Given the description of an element on the screen output the (x, y) to click on. 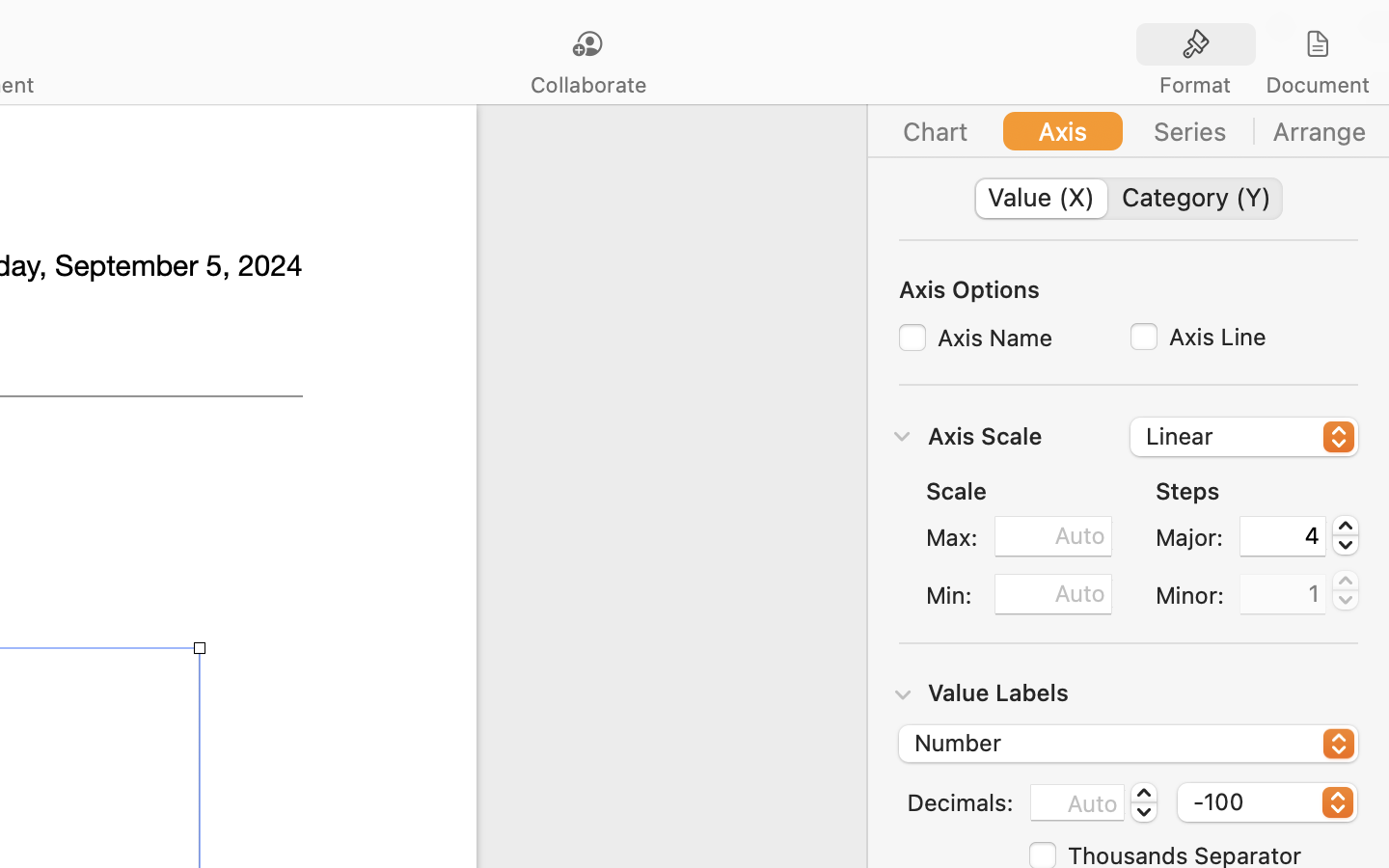
Axis Options Element type: AXStaticText (969, 287)
Minor: Element type: AXStaticText (1189, 594)
Major: Element type: AXStaticText (1189, 536)
Steps Element type: AXStaticText (1187, 490)
0.0 Element type: AXIncrementor (1142, 802)
